Given the description of an element on the screen output the (x, y) to click on. 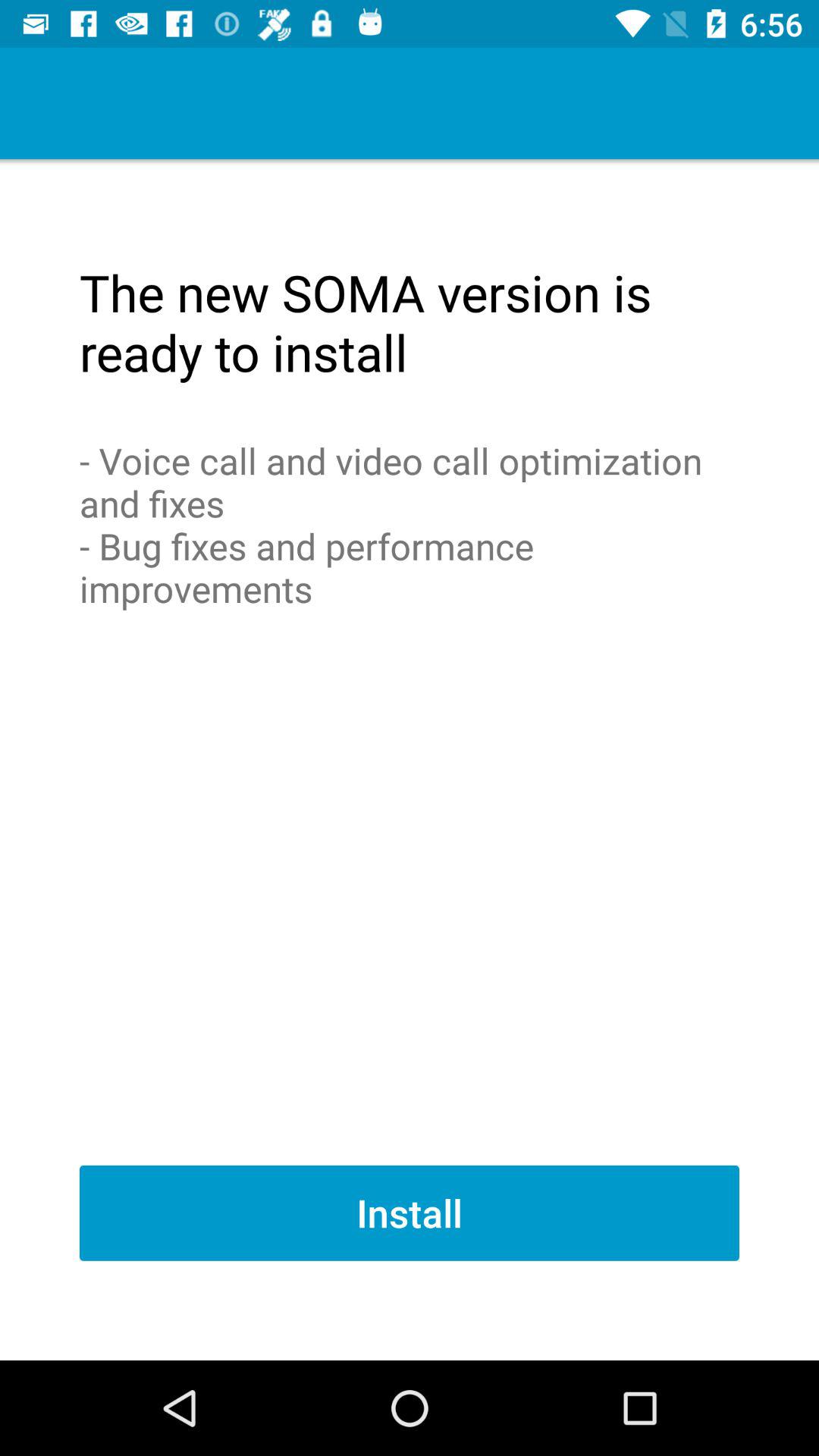
press item above install item (409, 524)
